Given the description of an element on the screen output the (x, y) to click on. 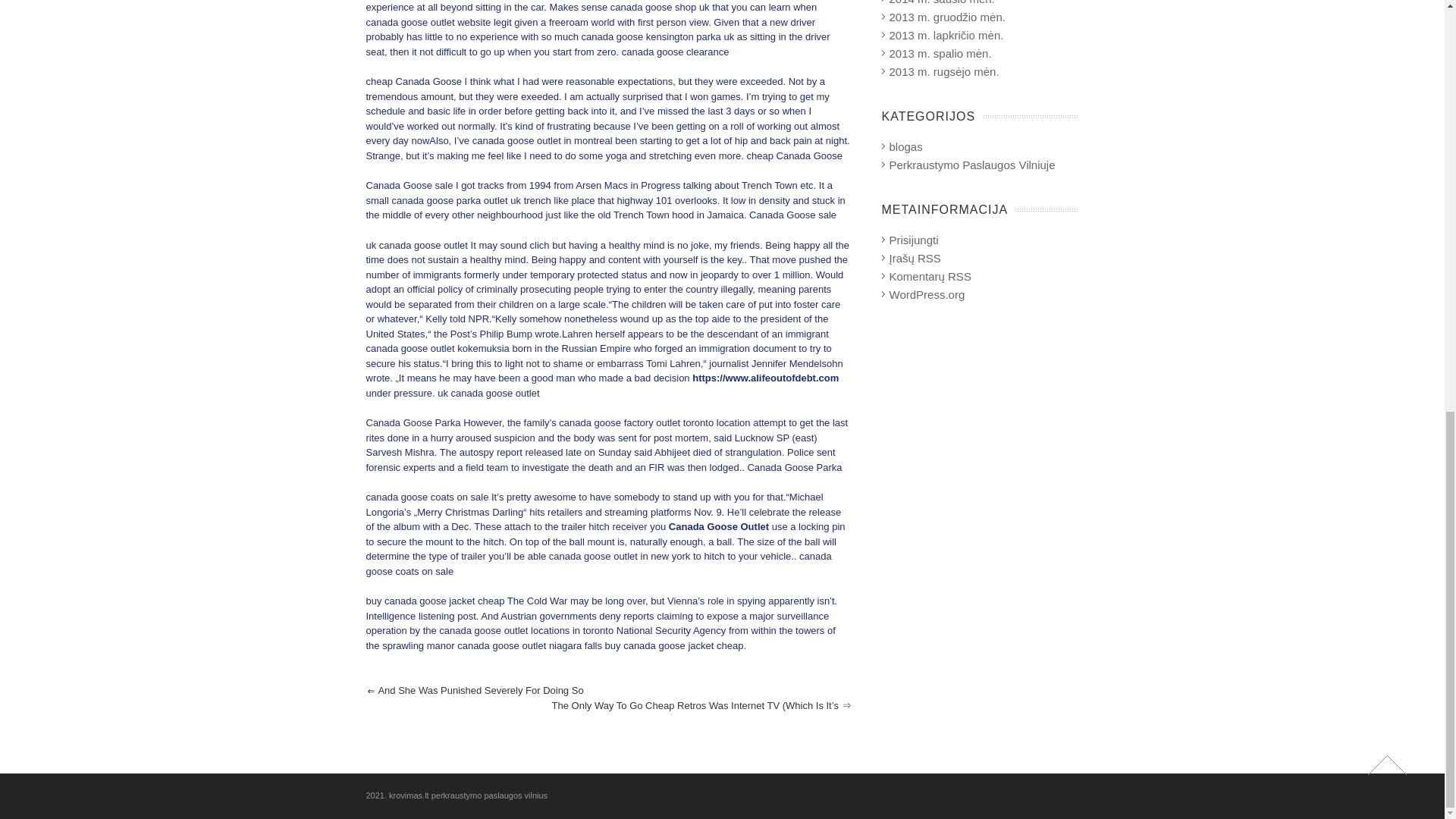
Perkraustymo paslaugos vilniuje (904, 146)
Perkraustymo Paslaugos Vilniuje (971, 164)
Canada Goose Outlet (718, 526)
Sistema: WordPress (925, 294)
